Given the description of an element on the screen output the (x, y) to click on. 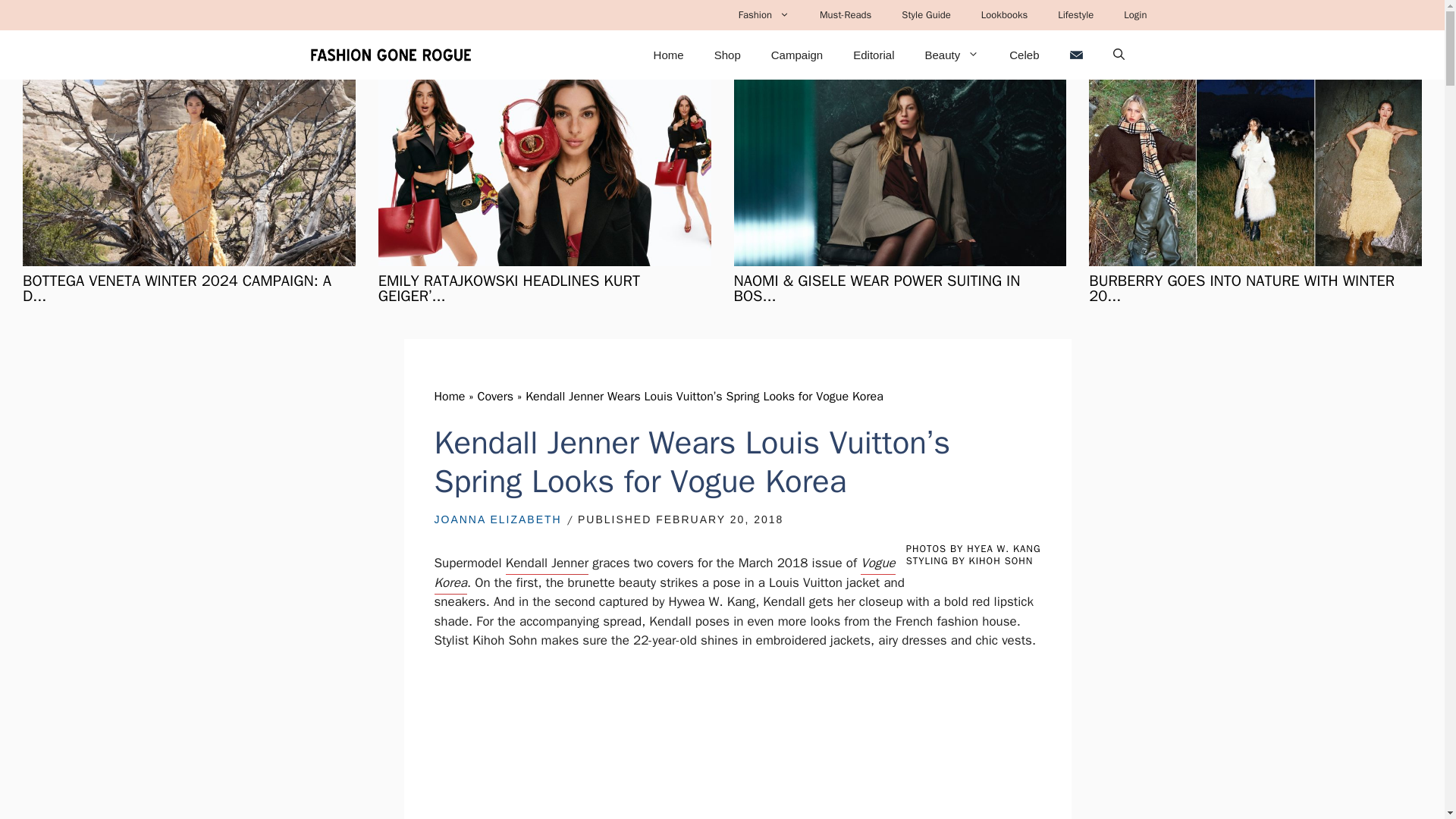
Kendall Jenner (546, 564)
Vogue Korea (664, 574)
Covers (495, 396)
Lookbooks (1004, 15)
Fashion Gone Rogue (390, 54)
Login (1134, 15)
Style Guide (926, 15)
Login (1134, 15)
Beauty (951, 53)
Home (668, 53)
